Given the description of an element on the screen output the (x, y) to click on. 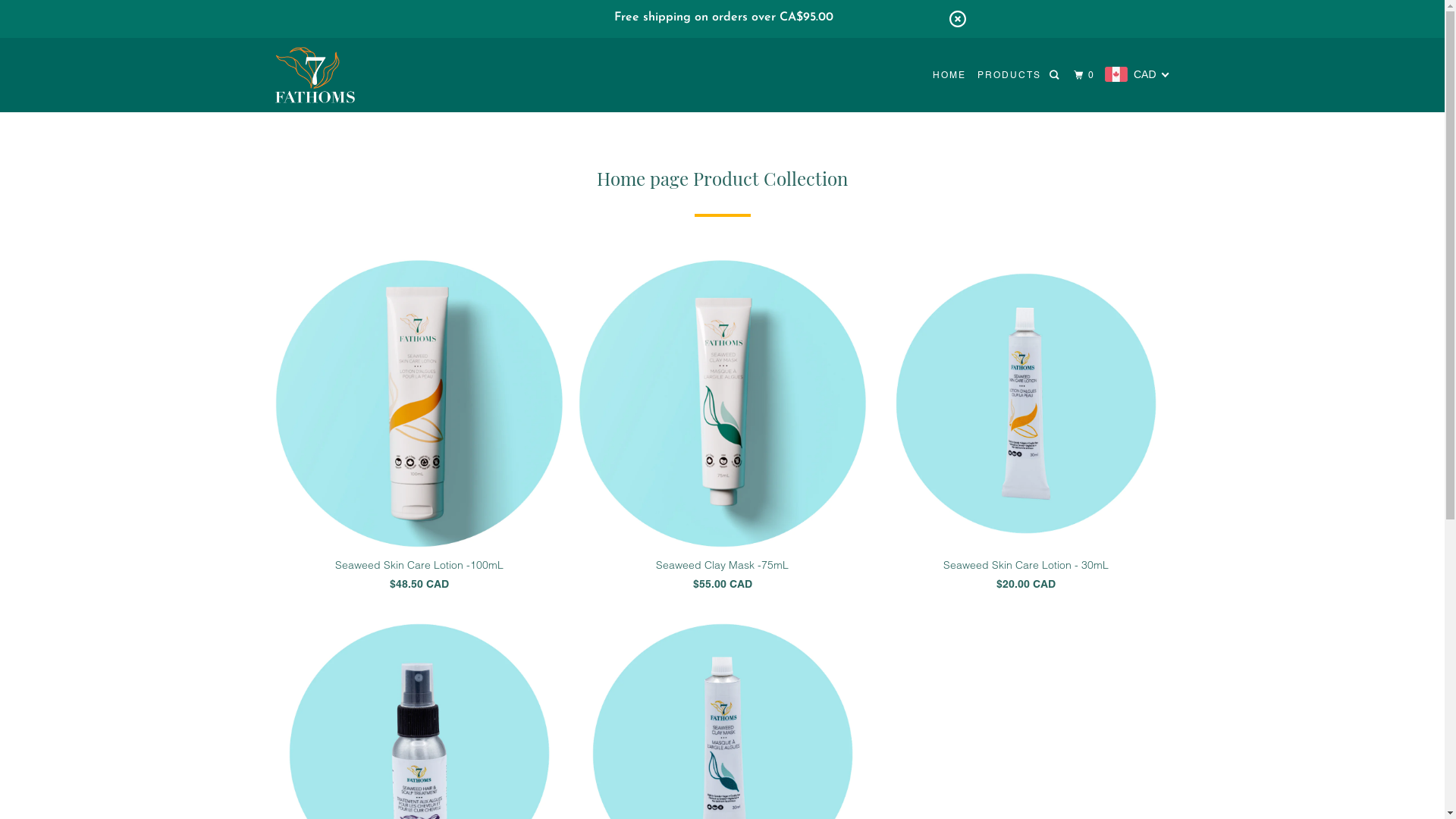
HOME Element type: text (949, 74)
PRODUCTS Element type: text (1009, 74)
0 Element type: text (1085, 74)
Seaweed Skin Care Lotion - 30mL
$20.00 CAD Element type: text (1025, 429)
Search Element type: hover (1055, 74)
Seaweed Clay Mask -75mL
$55.00 CAD Element type: text (721, 429)
Seaweed Skin Care Lotion -100mL
$48.50 CAD Element type: text (418, 429)
7 Fathoms Seaweed Skin Care Element type: hover (351, 74)
